Given the description of an element on the screen output the (x, y) to click on. 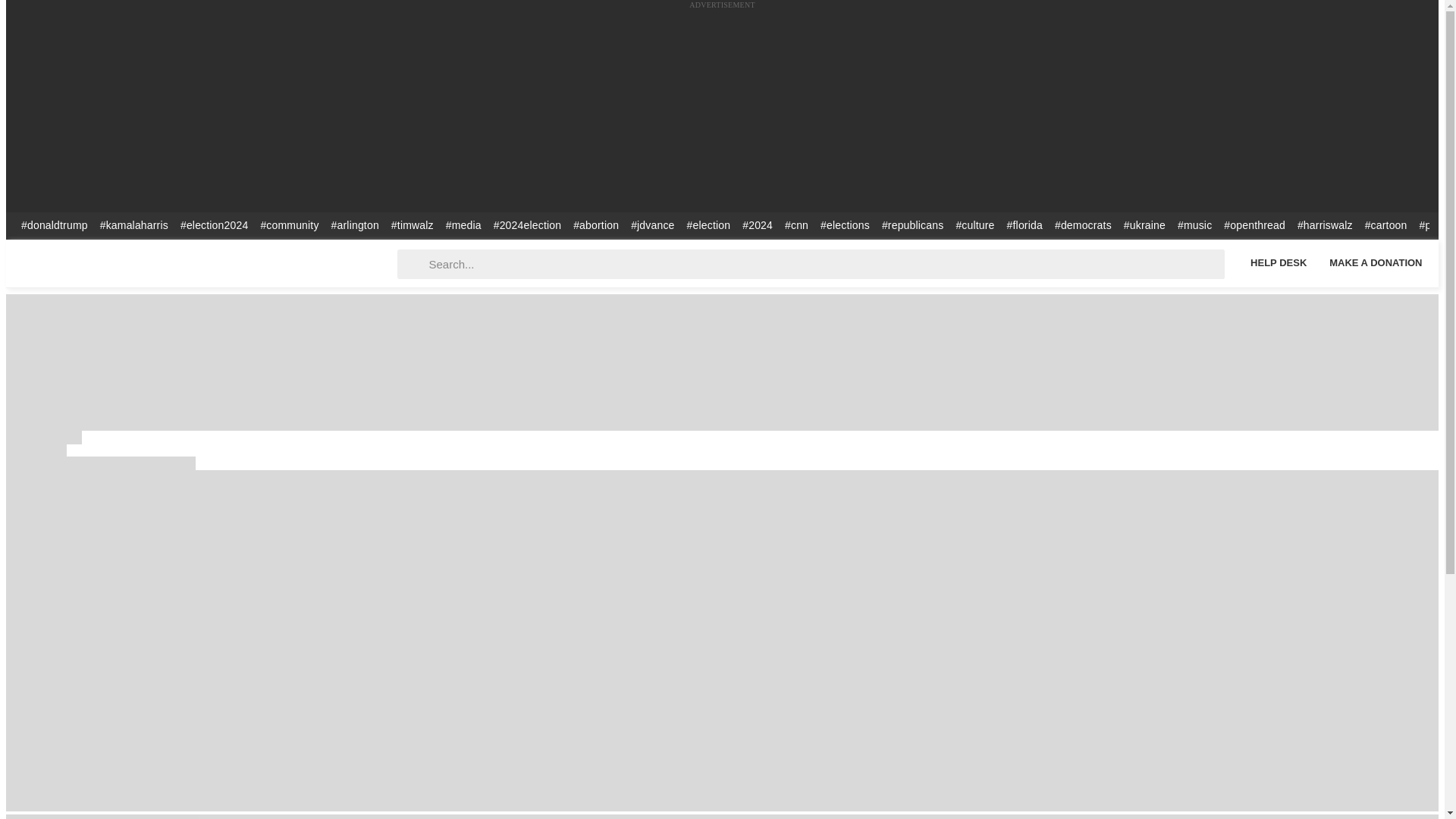
MAKE A DONATION (1375, 262)
Help Desk (1277, 262)
Make a Donation (1375, 262)
